Given the description of an element on the screen output the (x, y) to click on. 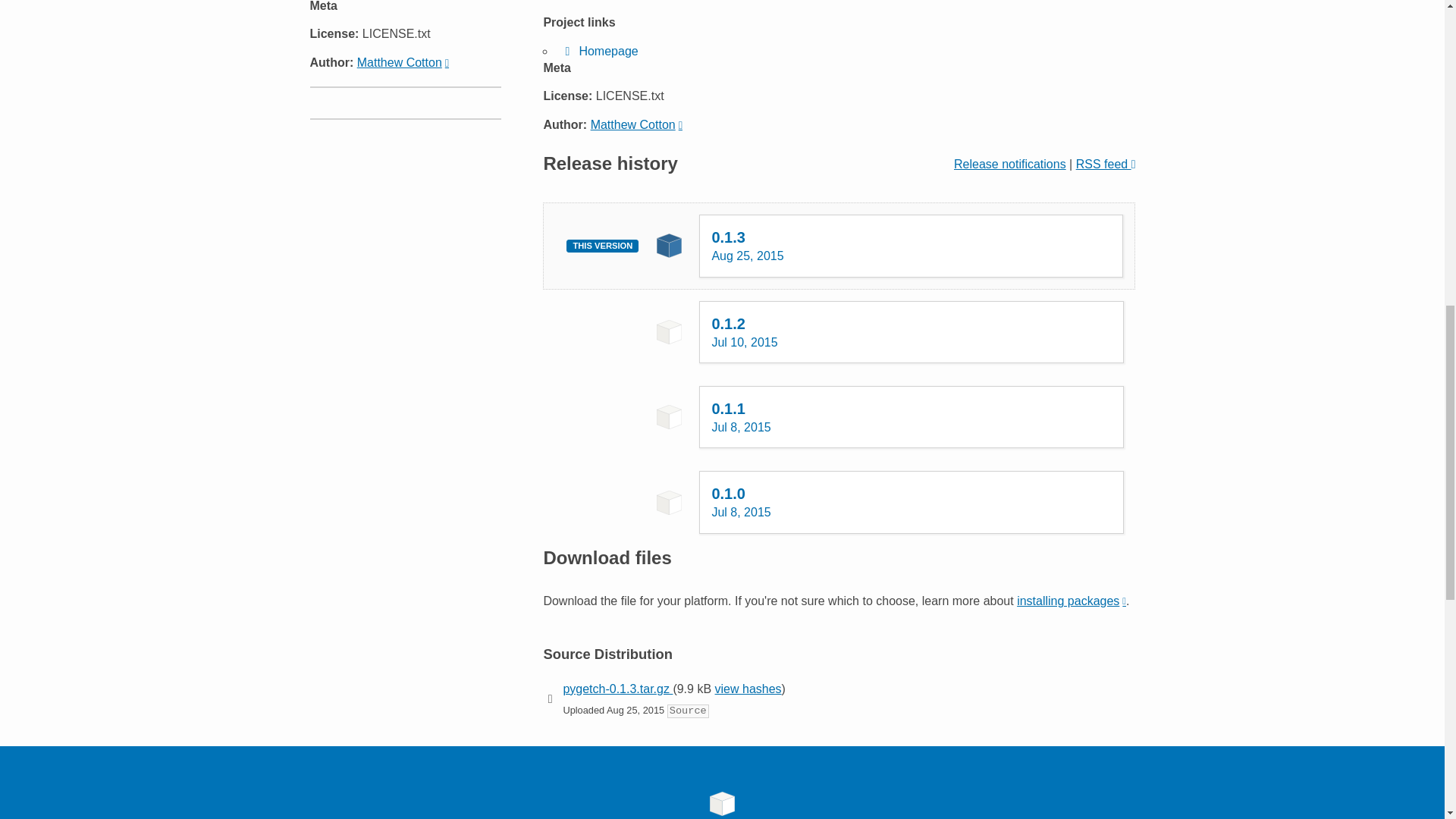
Homepage (598, 51)
Matthew Cotton (402, 62)
pygetch-0.1.3.tar.gz (617, 688)
view hashes (747, 688)
Release notifications (1009, 164)
RSS feed (1105, 164)
External link (911, 332)
installing packages (1070, 600)
Matthew Cotton (911, 501)
